Given the description of an element on the screen output the (x, y) to click on. 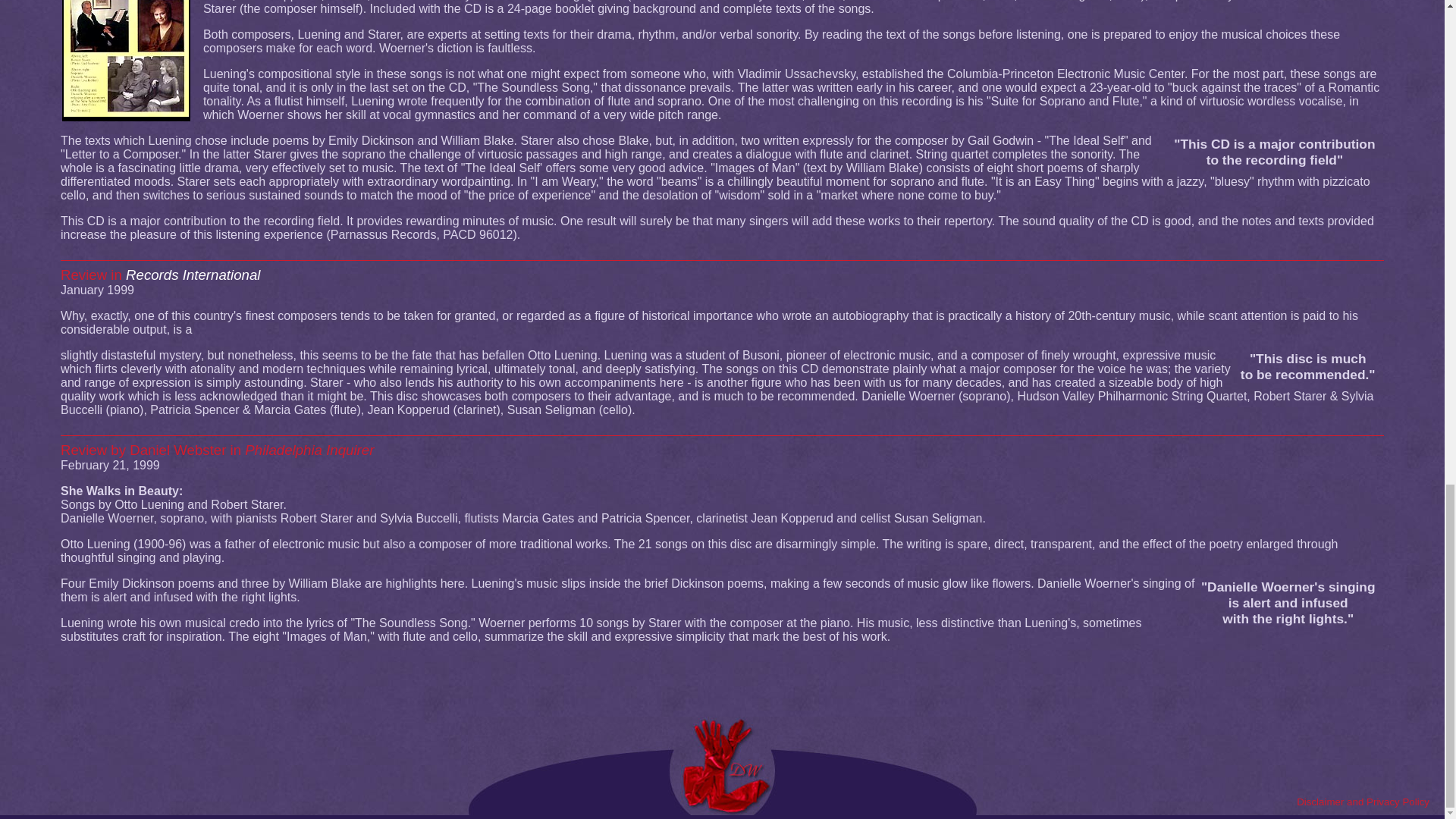
Records International (192, 274)
Privacy Policy (1398, 801)
Disclaimer (1320, 801)
